Given the description of an element on the screen output the (x, y) to click on. 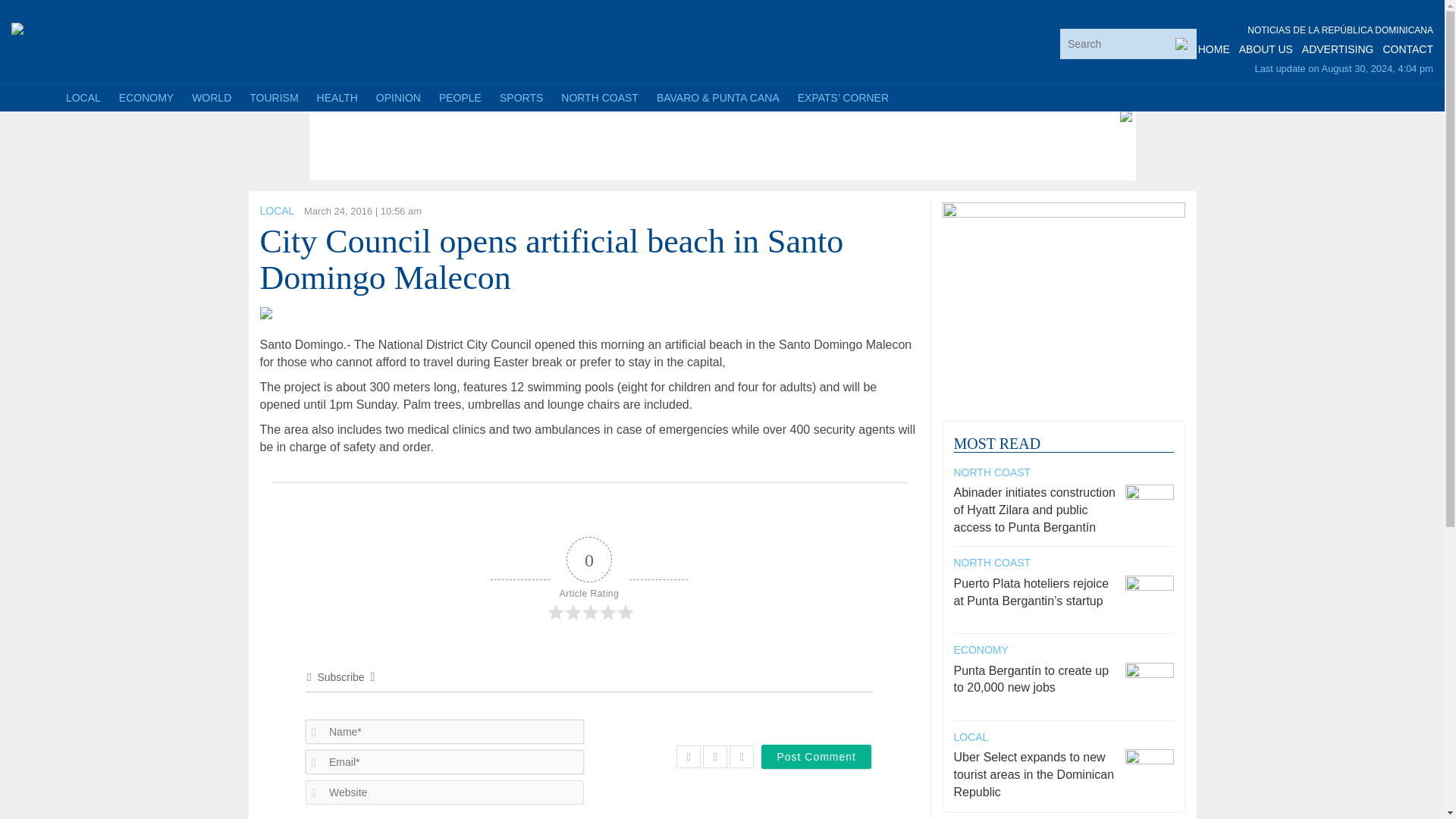
LOCAL (83, 97)
HOME (1214, 49)
Post Comment (815, 756)
HEALTH (336, 97)
SPORTS (520, 97)
CONTACT (1406, 49)
WORLD (211, 97)
ADVERTISING (1337, 49)
TOURISM (273, 97)
